Given the description of an element on the screen output the (x, y) to click on. 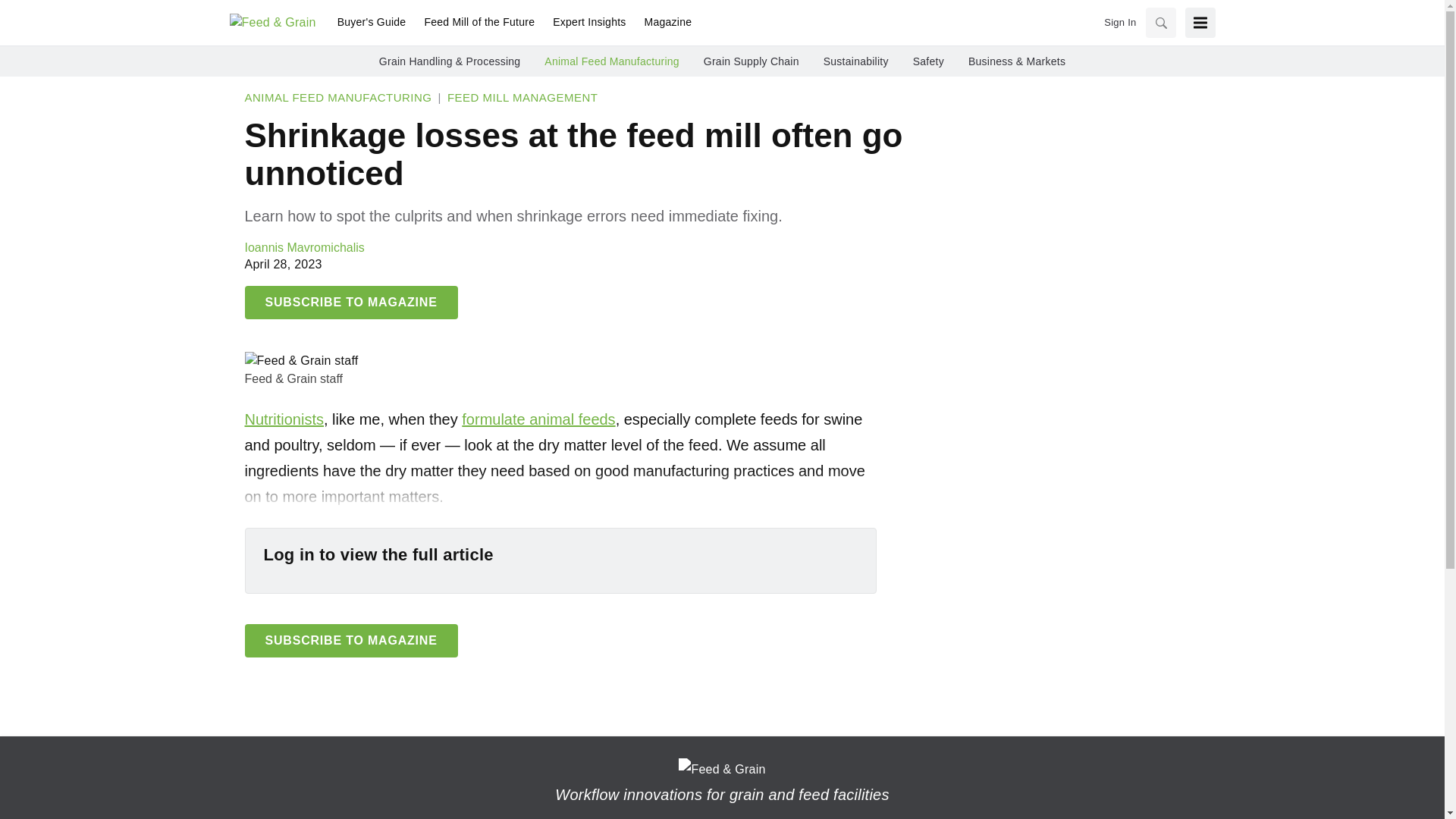
Magazine (663, 22)
Safety (927, 61)
Expert Insights (588, 22)
Buyer's Guide (371, 22)
Sustainability (856, 61)
Animal Feed Manufacturing (337, 97)
Animal Feed Manufacturing (611, 61)
Feed Mill Management (522, 97)
Grain Supply Chain (751, 61)
Feed Mill of the Future (478, 22)
